Given the description of an element on the screen output the (x, y) to click on. 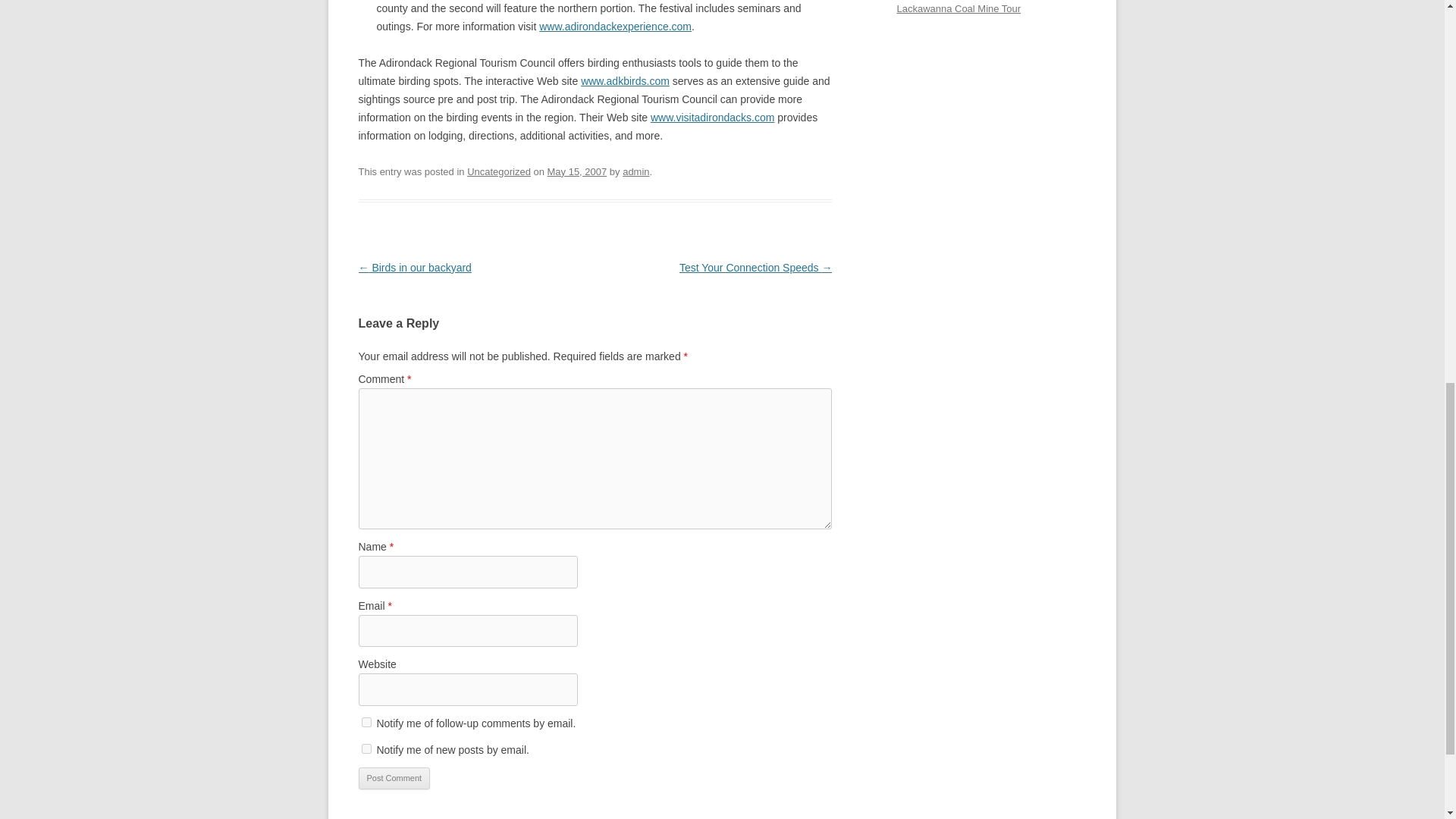
View all posts by admin (636, 171)
Post Comment (393, 778)
subscribe (366, 748)
subscribe (366, 722)
8:33 am (577, 171)
